Given the description of an element on the screen output the (x, y) to click on. 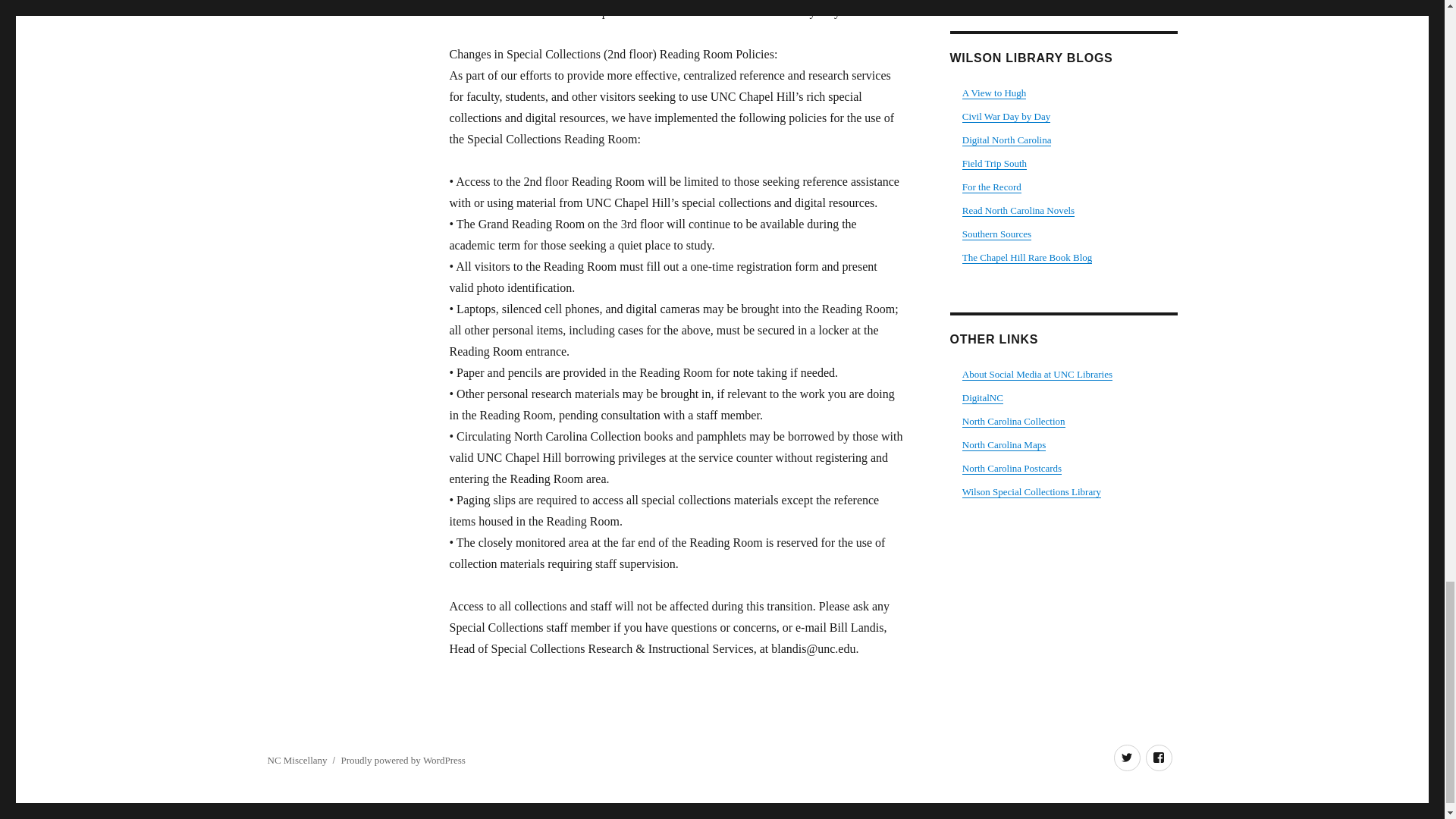
Exploring the Southern Historical Collection (996, 233)
Highlights from the North Carolina Digital Heritage Center (1006, 139)
A guide to recent fiction set in North Carolina (1018, 210)
 Exploring the Southern Folklife Collection (994, 163)
 Processing the Hugh Morton Photographs and Films (994, 92)
